Given the description of an element on the screen output the (x, y) to click on. 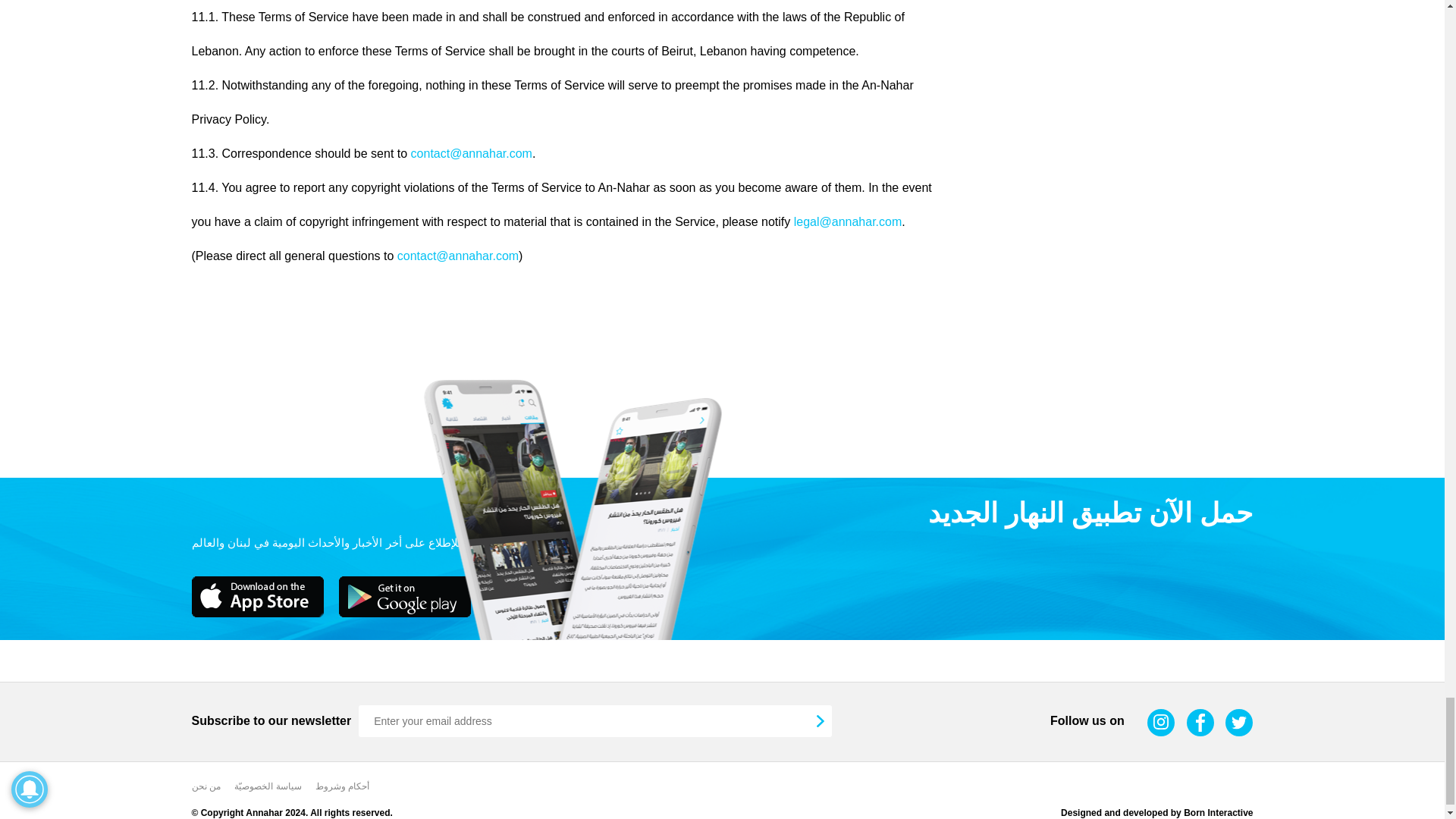
Download on Play Store (403, 596)
Download on App Store (256, 596)
Born Interactive (1217, 812)
